Given the description of an element on the screen output the (x, y) to click on. 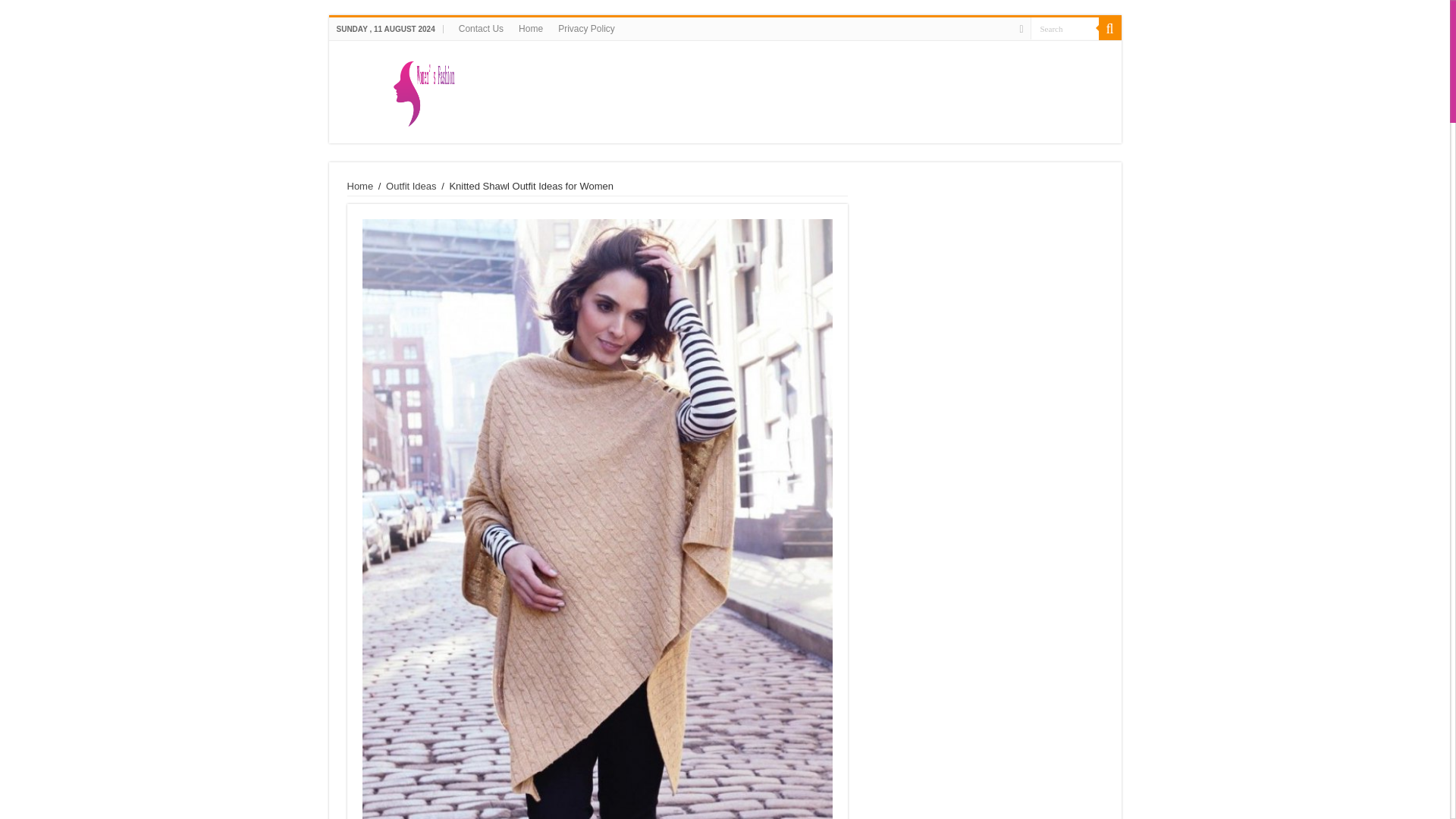
Search (1063, 28)
Contact Us (481, 28)
Search (1109, 28)
Privacy Policy (586, 28)
Outfit Ideas (410, 185)
Search (1063, 28)
Search (1063, 28)
Home (530, 28)
kadininmodasi.org (724, 89)
Home (360, 185)
